Given the description of an element on the screen output the (x, y) to click on. 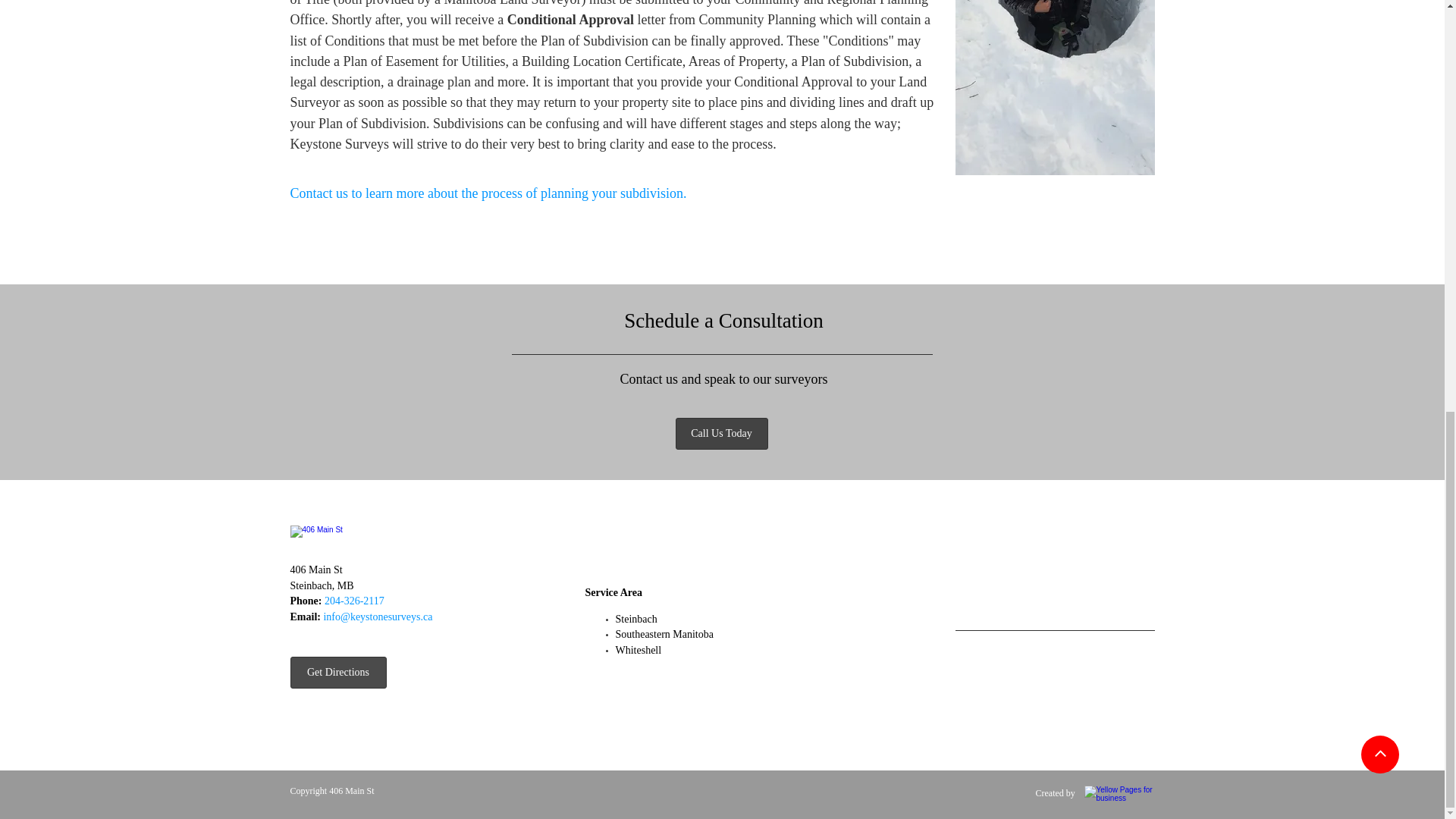
406 Main St (351, 790)
204-326-2117 (354, 600)
Get Directions (337, 672)
Call Us Today (721, 433)
